Given the description of an element on the screen output the (x, y) to click on. 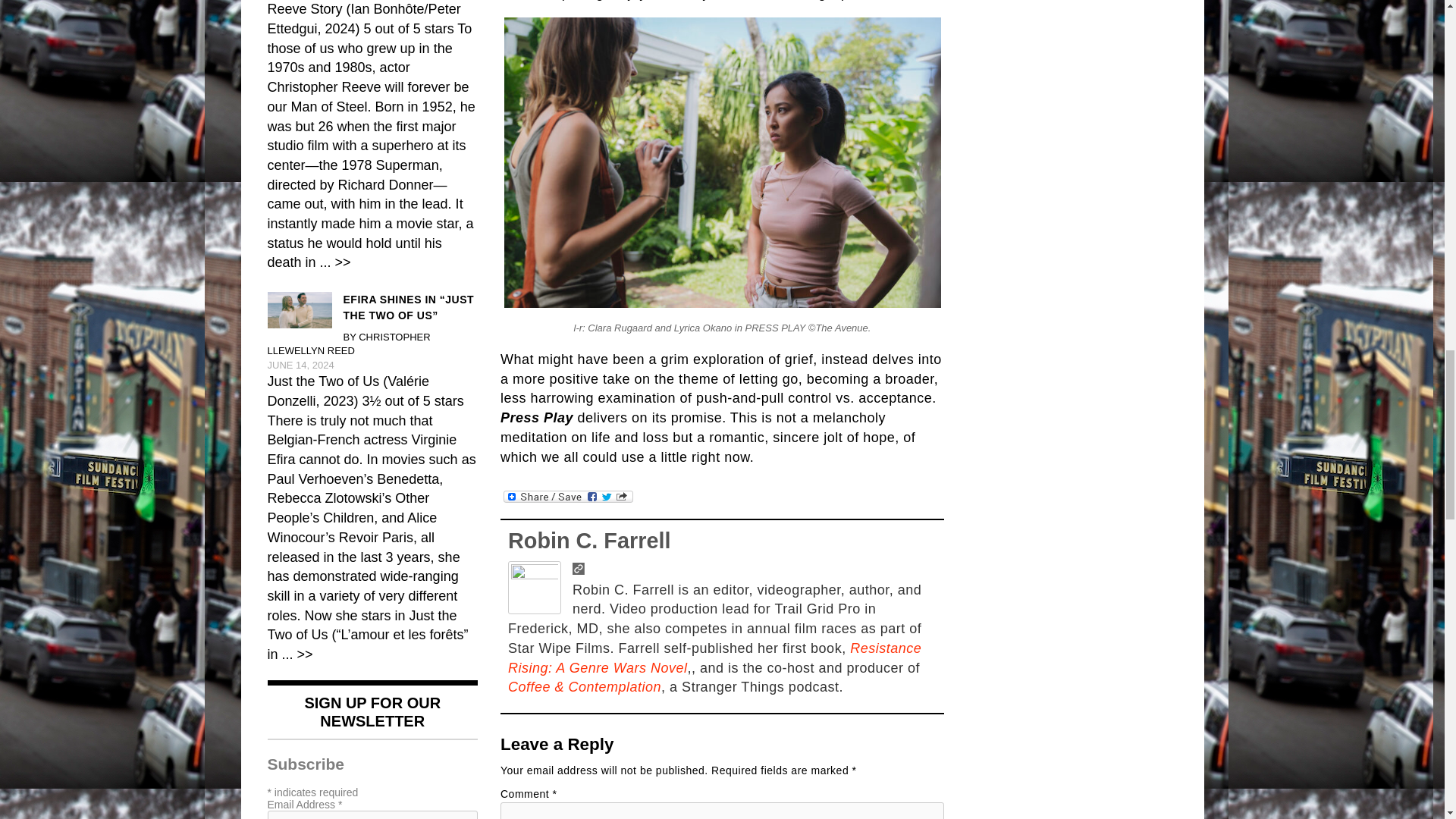
All posts by Robin C. Farrell (588, 540)
Resistance Rising: A Genre Wars Novel (714, 657)
Robin C. Farrell (588, 540)
